Given the description of an element on the screen output the (x, y) to click on. 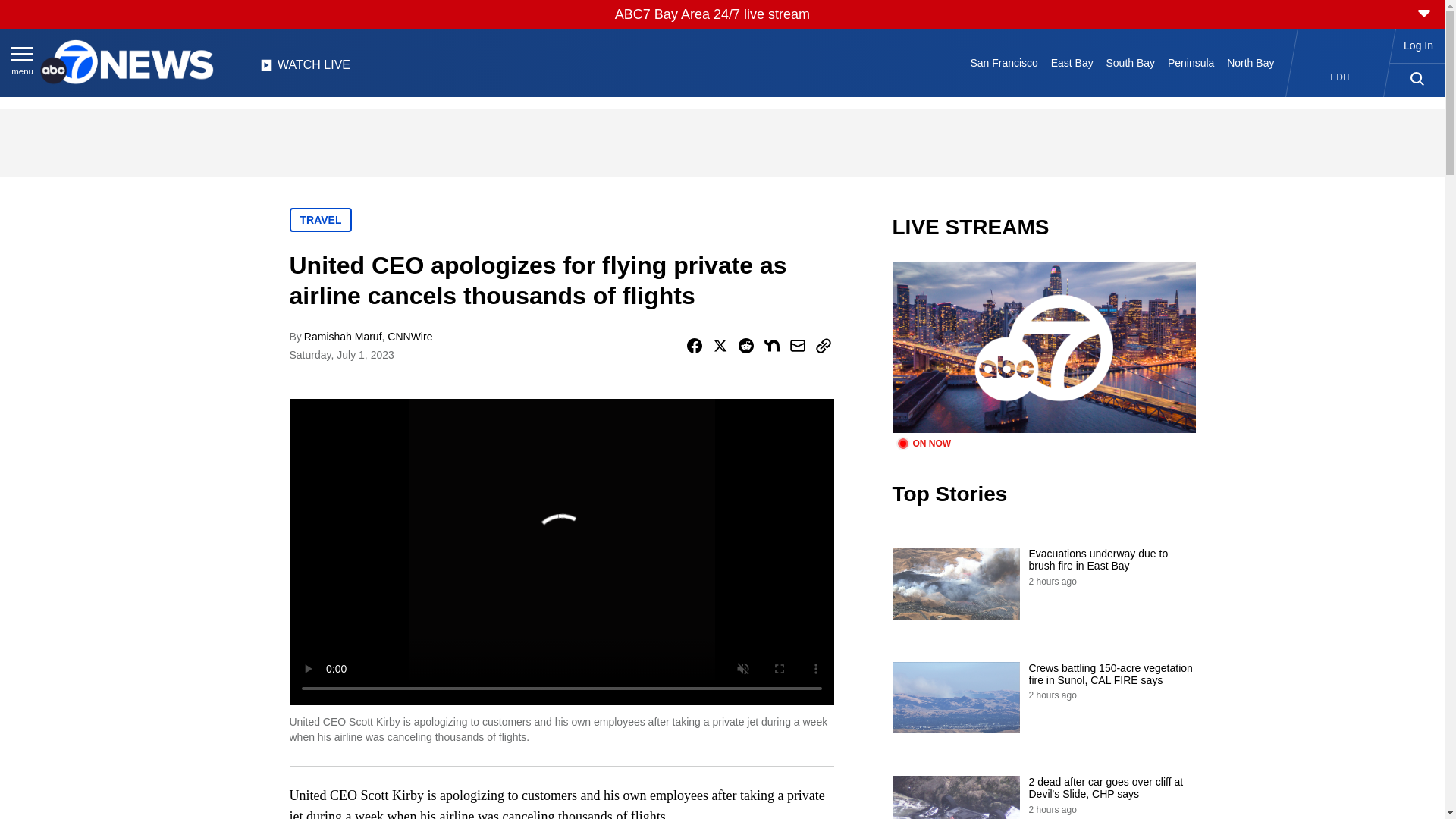
WATCH LIVE (305, 69)
South Bay (1129, 62)
San Francisco (1003, 62)
East Bay (1071, 62)
Peninsula (1191, 62)
North Bay (1251, 62)
EDIT (1340, 77)
